Given the description of an element on the screen output the (x, y) to click on. 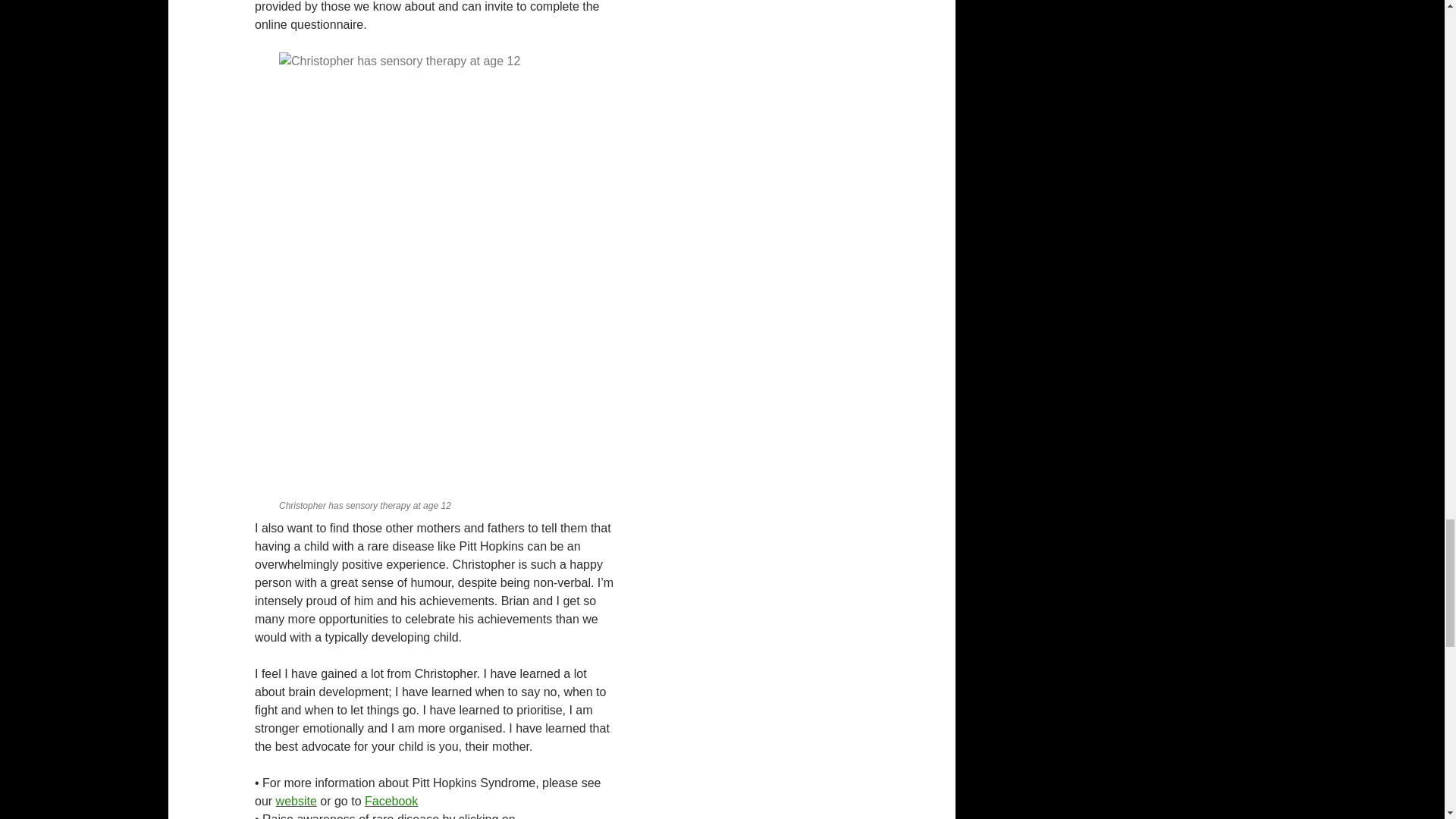
Facebook (391, 800)
website (296, 800)
